Given the description of an element on the screen output the (x, y) to click on. 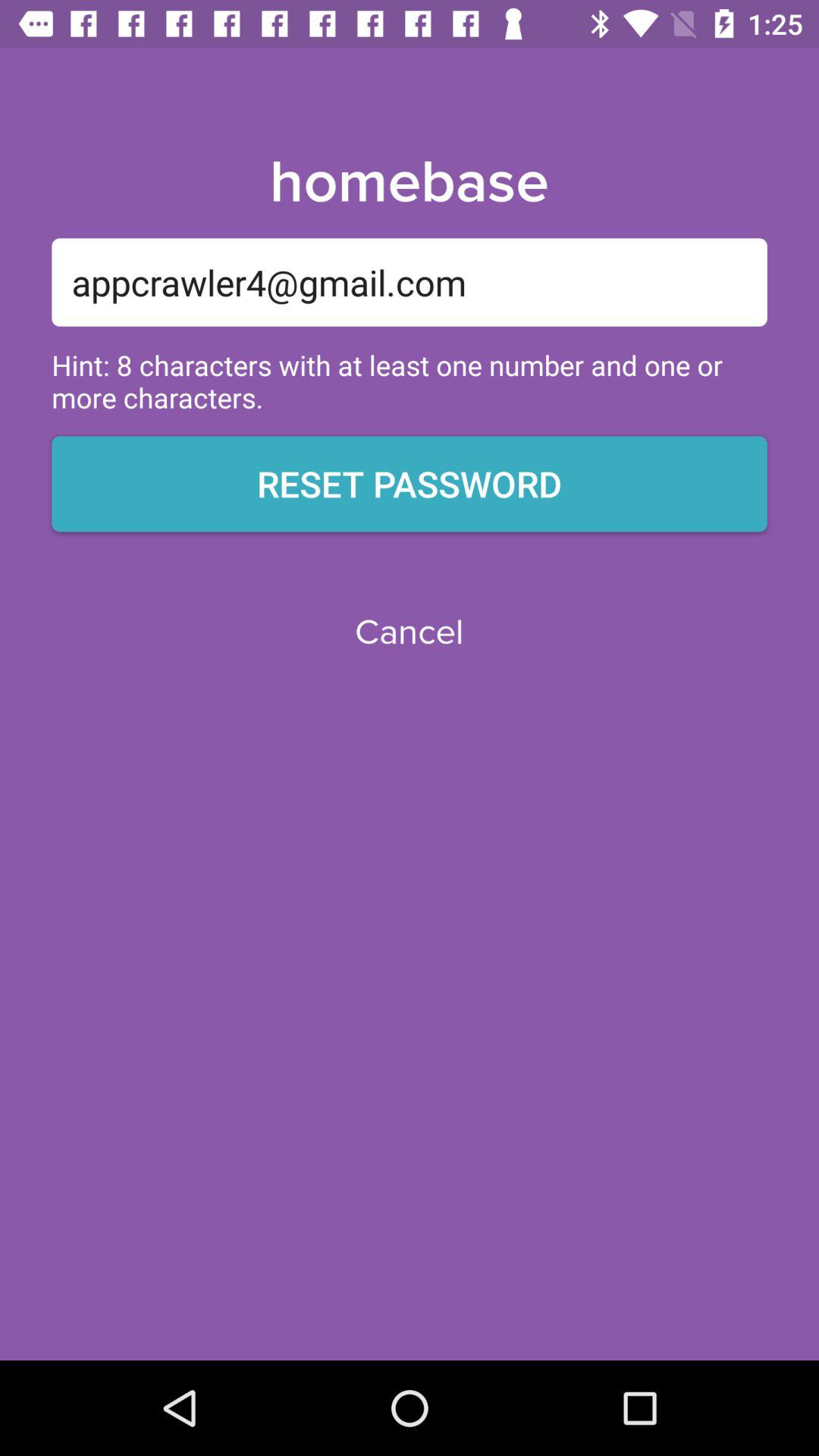
turn off the item above the hint 8 characters item (409, 282)
